Given the description of an element on the screen output the (x, y) to click on. 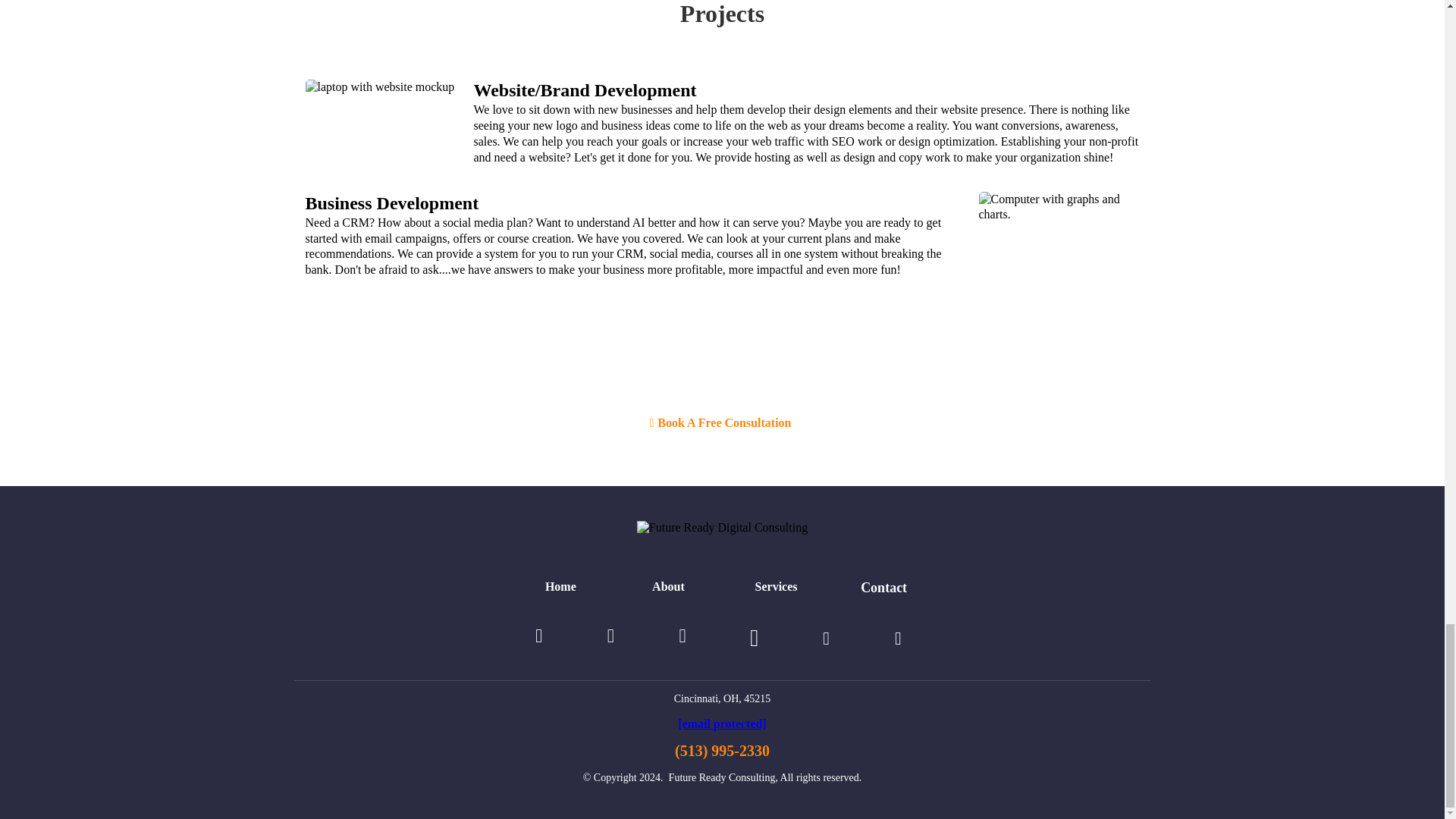
Book A Free Consultation (720, 418)
About (667, 586)
Services (776, 586)
Contact (884, 587)
Home (560, 586)
